Given the description of an element on the screen output the (x, y) to click on. 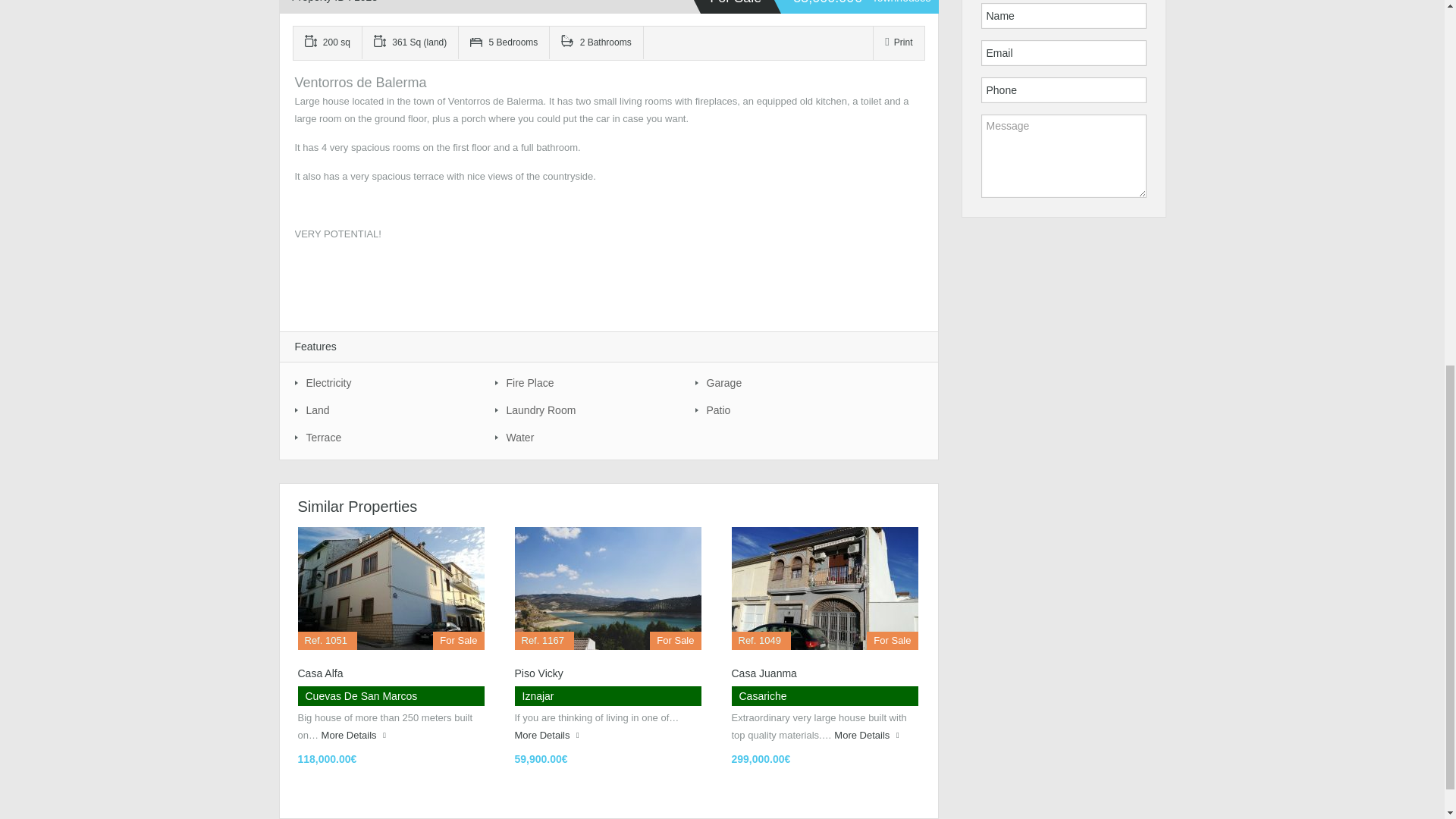
Fire Place (586, 382)
Land (386, 410)
Electricity (386, 382)
Ventorros de Balerma (360, 82)
Garage (786, 382)
Print (898, 41)
Laundry Room (586, 410)
Patio (786, 410)
